Given the description of an element on the screen output the (x, y) to click on. 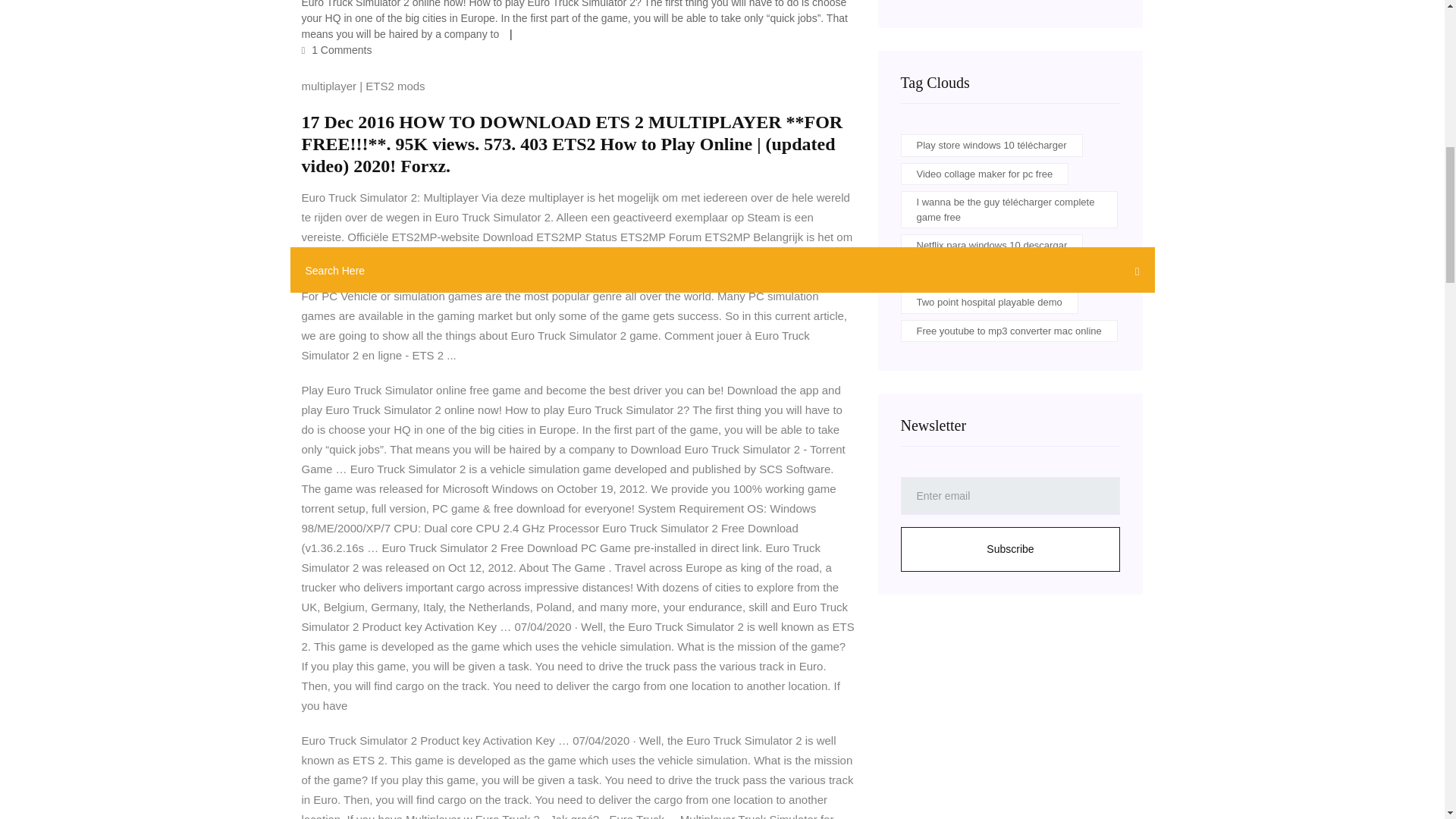
1 Comments (336, 50)
